Given the description of an element on the screen output the (x, y) to click on. 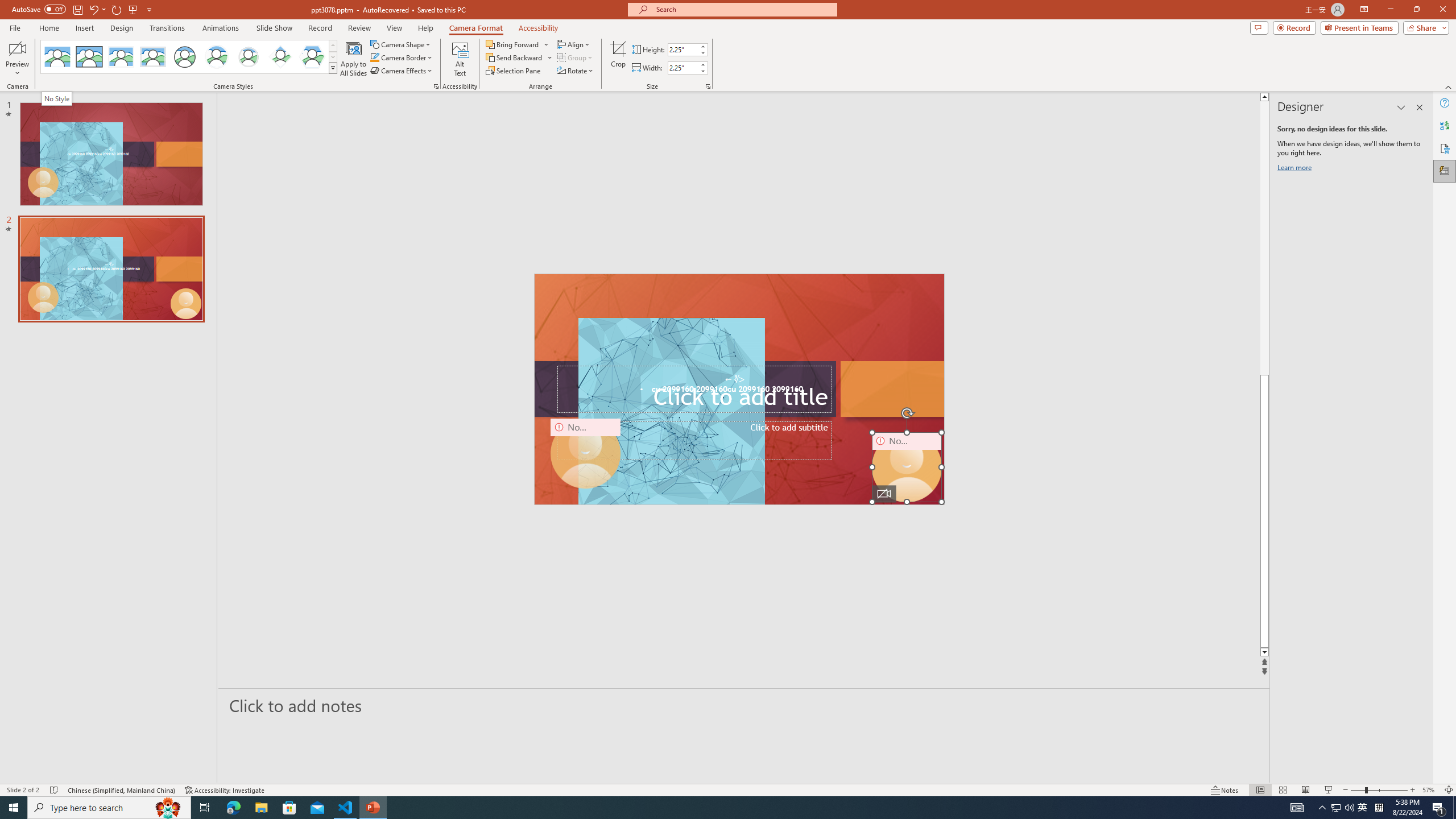
Center Shadow Rectangle (120, 56)
Camera Effects (402, 69)
Animations (220, 28)
Zoom In (1412, 790)
Learn more (1295, 169)
Simple Frame Rectangle (88, 56)
Row Down (333, 56)
Comments (1259, 27)
Center Shadow Hexagon (312, 56)
Close pane (1419, 107)
Class: MsoCommandBar (728, 789)
Zoom Out (1358, 790)
Insert (83, 28)
Slide Notes (743, 705)
